Given the description of an element on the screen output the (x, y) to click on. 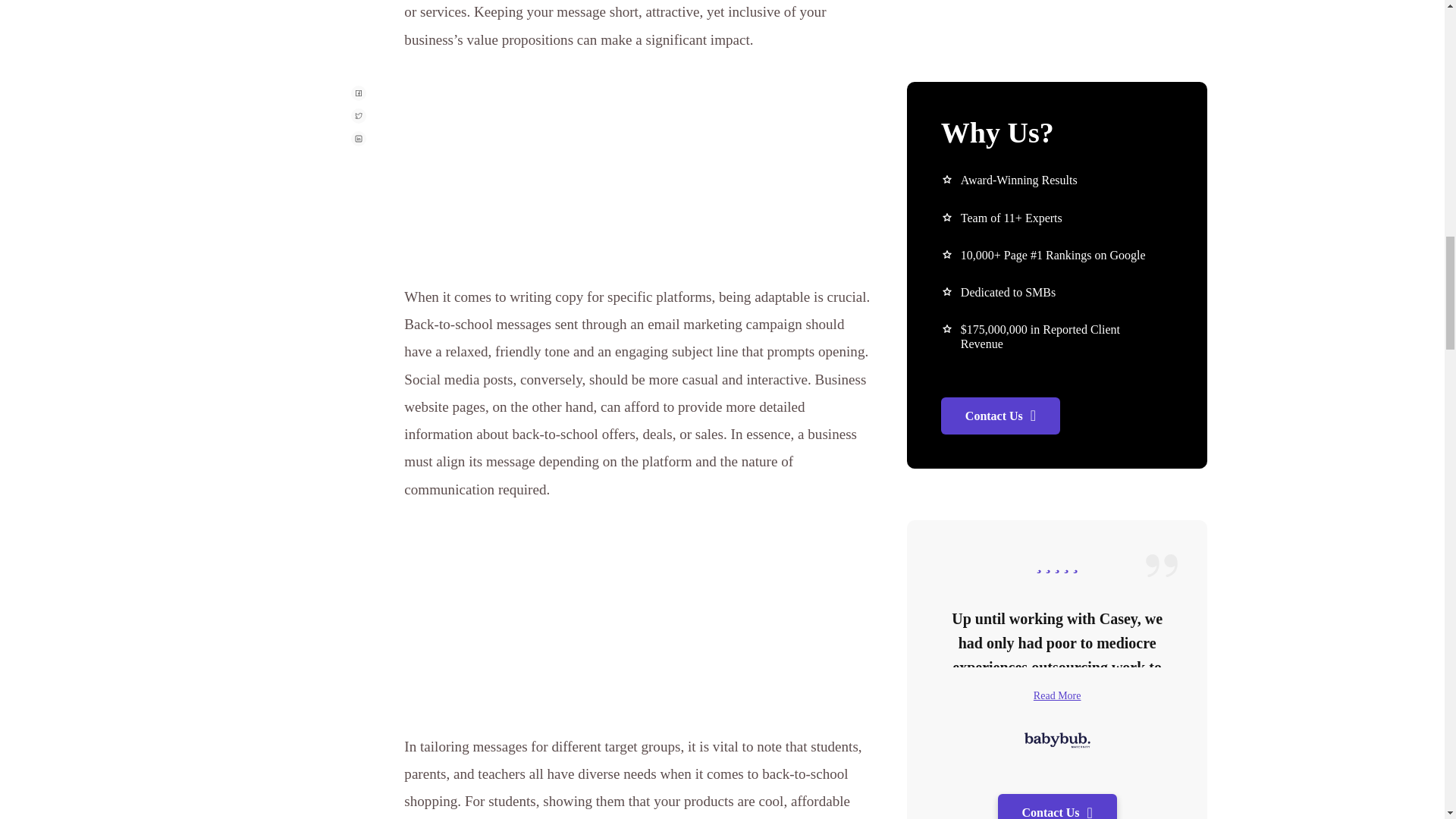
Contact Us (1056, 341)
Read More (1057, 225)
